Given the description of an element on the screen output the (x, y) to click on. 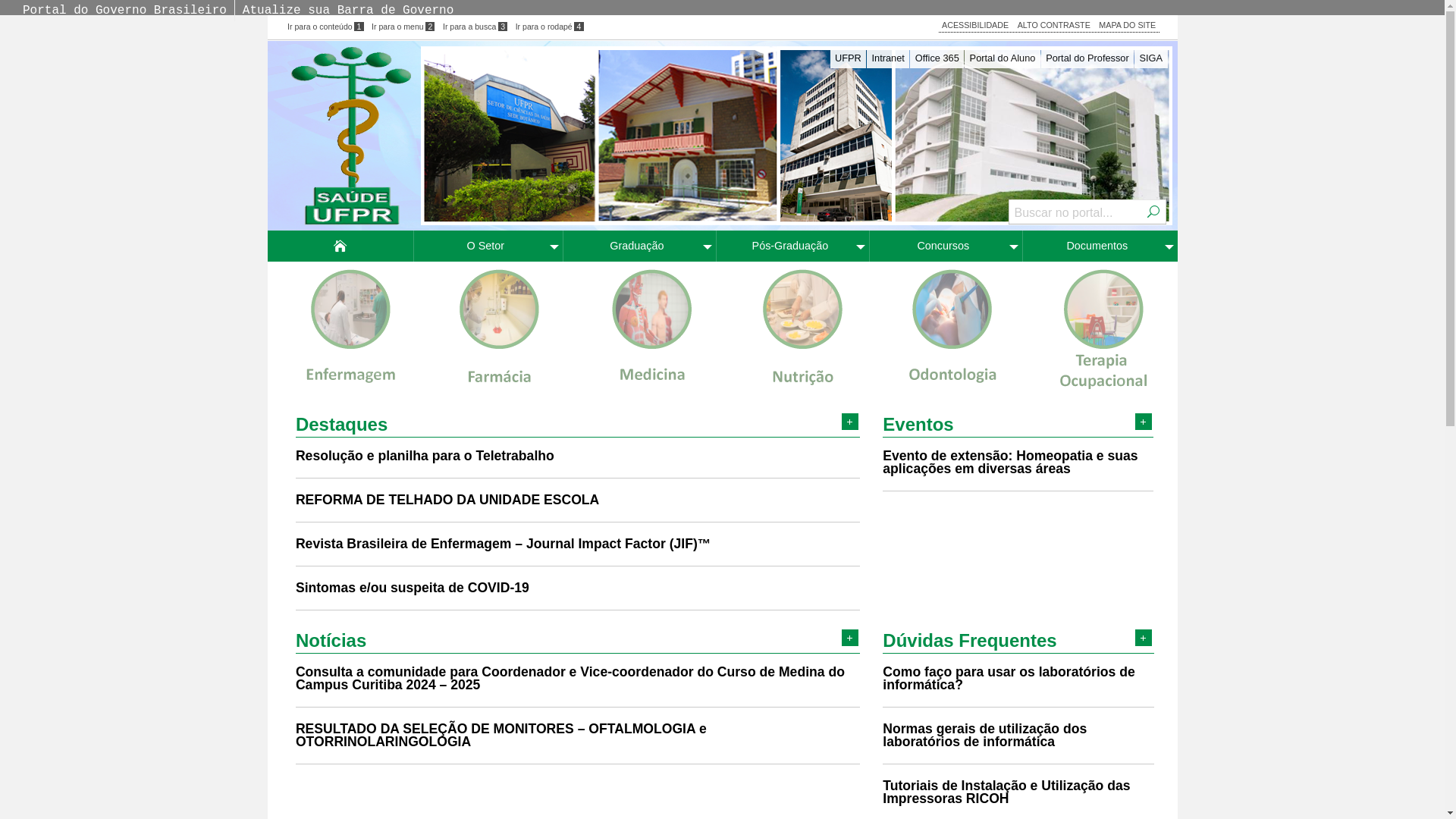
UFPR Element type: text (847, 58)
Office 365 Element type: text (936, 58)
Mais destaques Element type: hover (849, 421)
ACESSIBILIDADE Element type: text (975, 24)
MAPA DO SITE Element type: text (1126, 24)
Sintomas e/ou suspeita de COVID-19 Element type: text (412, 587)
SIGA Element type: text (1150, 58)
Intranet Element type: text (887, 58)
Mais Eventos Element type: hover (1143, 421)
REFORMA DE TELHADO DA UNIDADE ESCOLA Element type: text (447, 499)
Concursos Element type: text (945, 246)
ALTO CONTRASTE Element type: text (1053, 24)
Portal do Aluno Element type: text (1002, 58)
O Setor Element type: text (488, 246)
Portal do Governo Brasileiro Element type: text (124, 10)
Portal do Professor Element type: text (1087, 58)
Documentos Element type: text (1099, 246)
Ir para a busca3 Element type: text (475, 26)
Atualize sua Barra de Governo Element type: text (347, 10)
Ir para o menu2 Element type: text (403, 26)
